Given the description of an element on the screen output the (x, y) to click on. 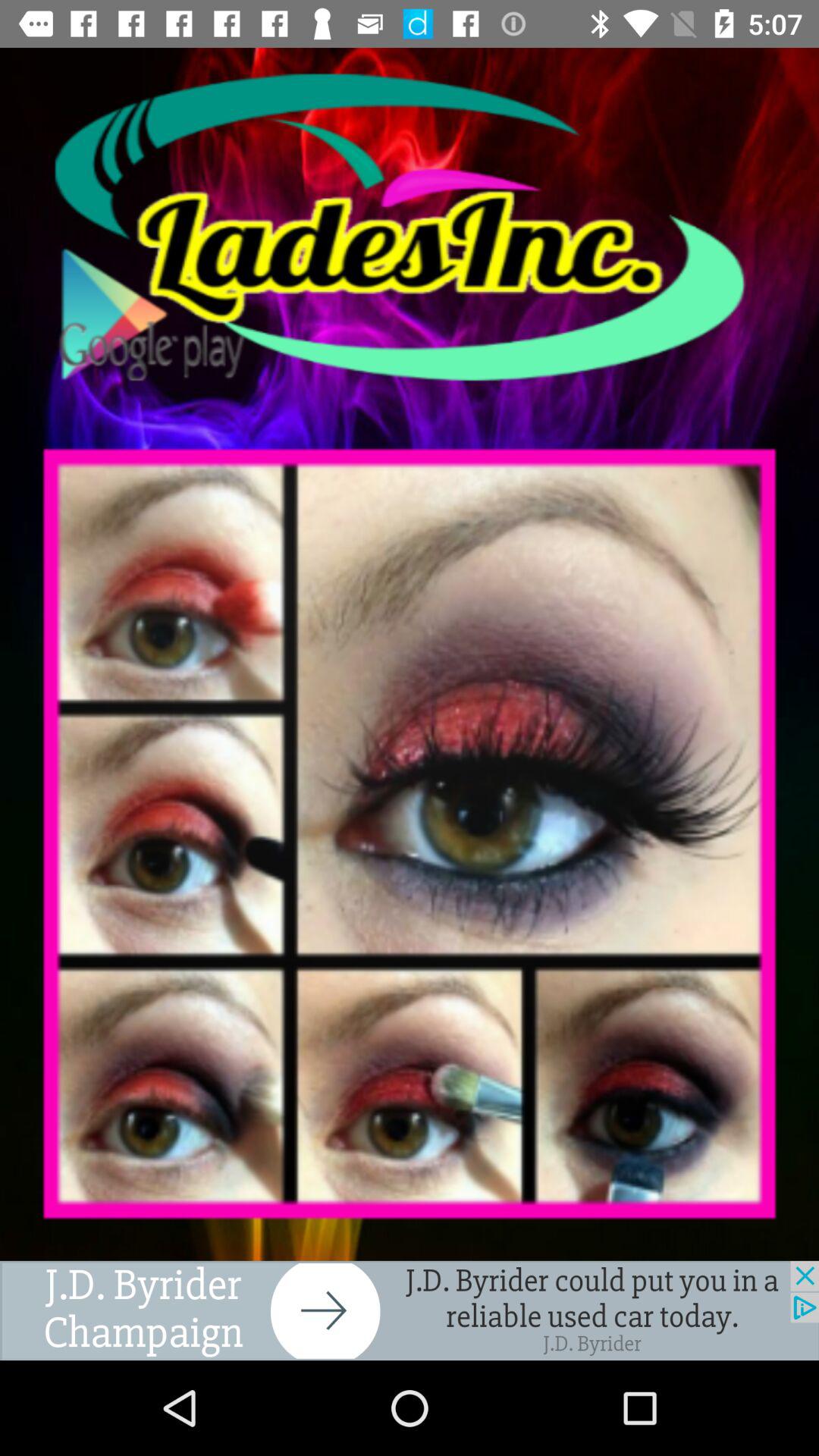
click to play (409, 226)
